Given the description of an element on the screen output the (x, y) to click on. 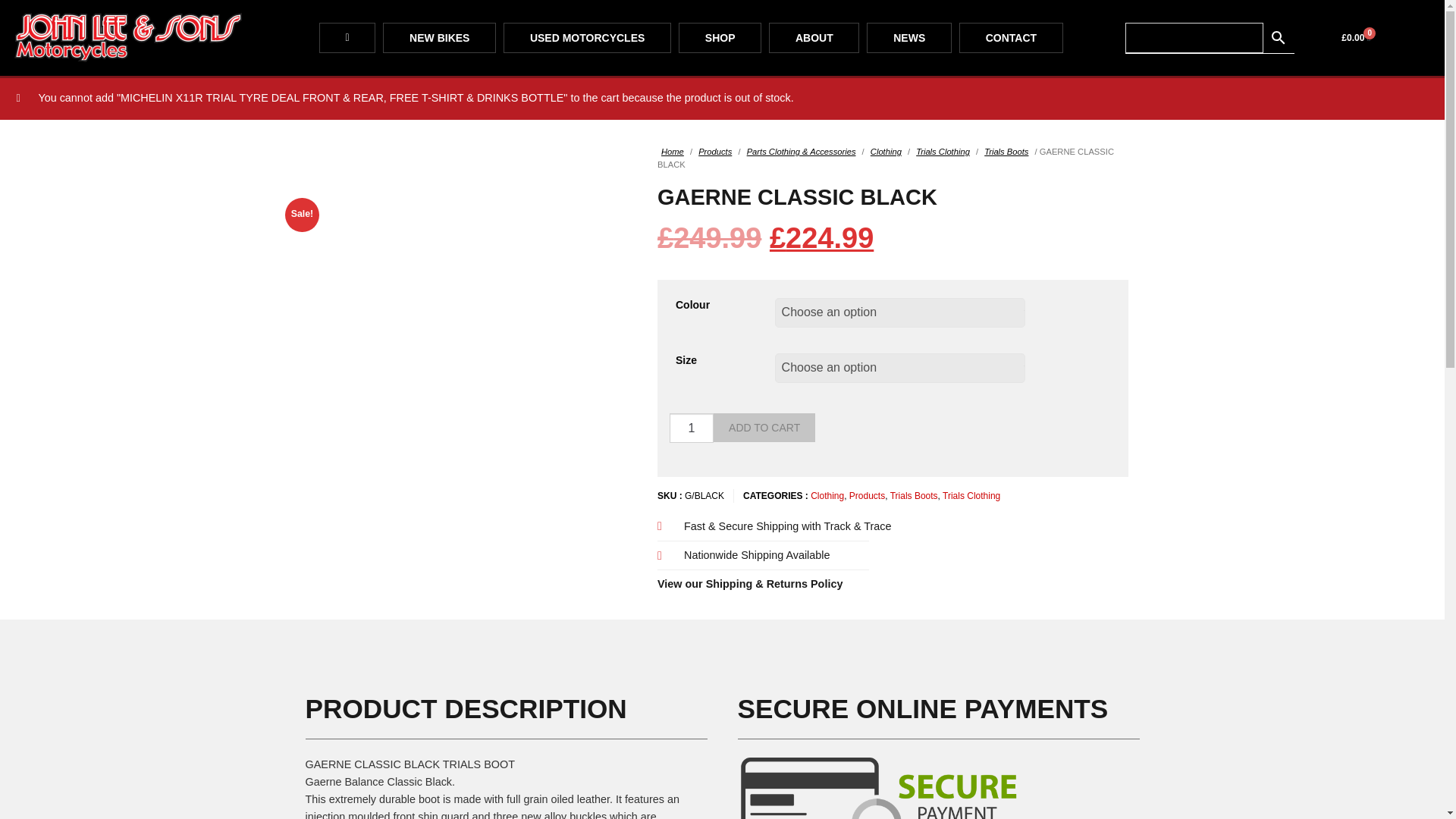
NEWS (908, 37)
USED MOTORCYCLES (587, 37)
CONTACT (1010, 37)
ABOUT (813, 37)
1 (691, 428)
SHOP (719, 37)
NEW BIKES (439, 37)
